Given the description of an element on the screen output the (x, y) to click on. 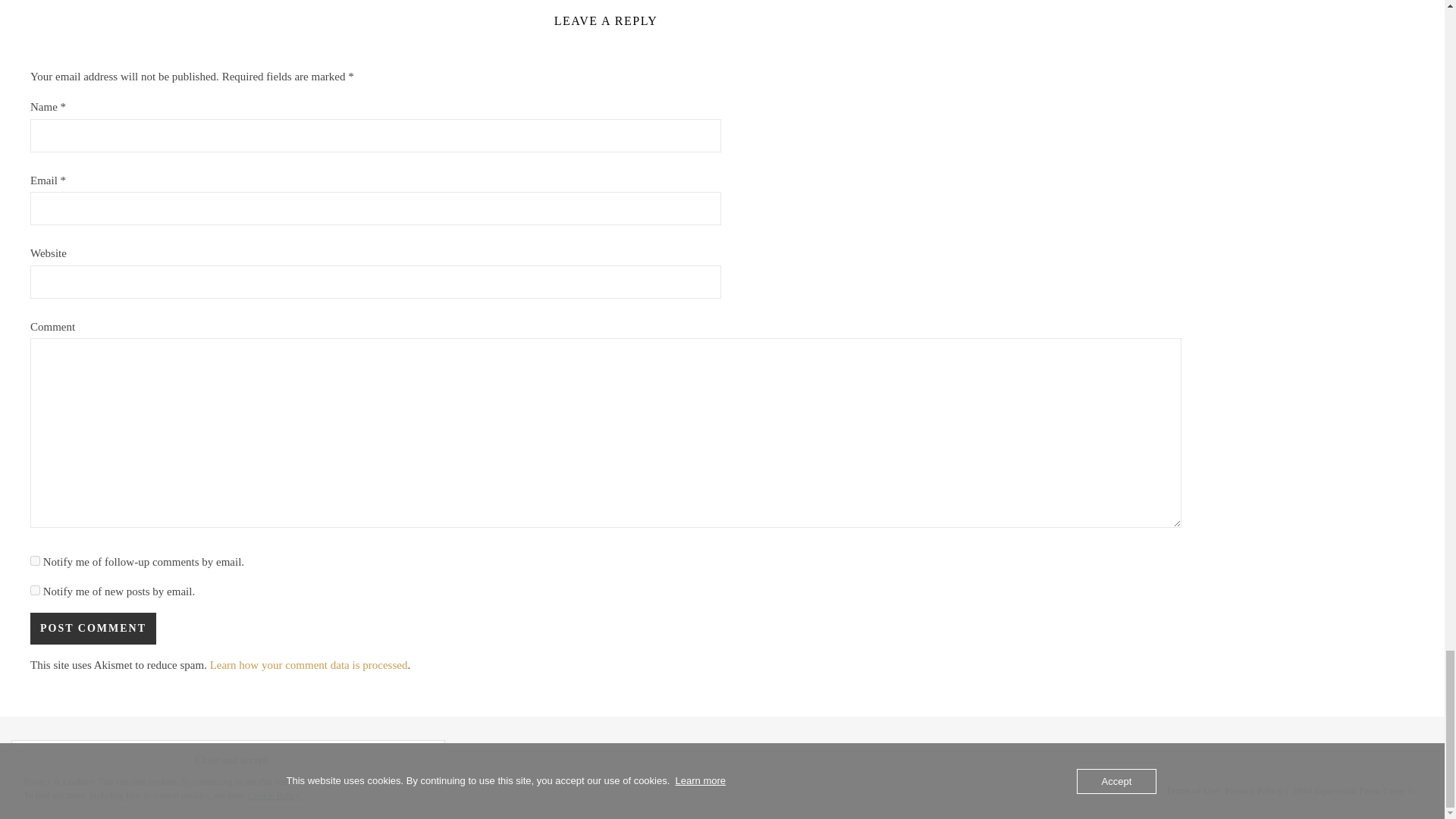
subscribe (35, 590)
subscribe (35, 560)
Post Comment (92, 628)
